Given the description of an element on the screen output the (x, y) to click on. 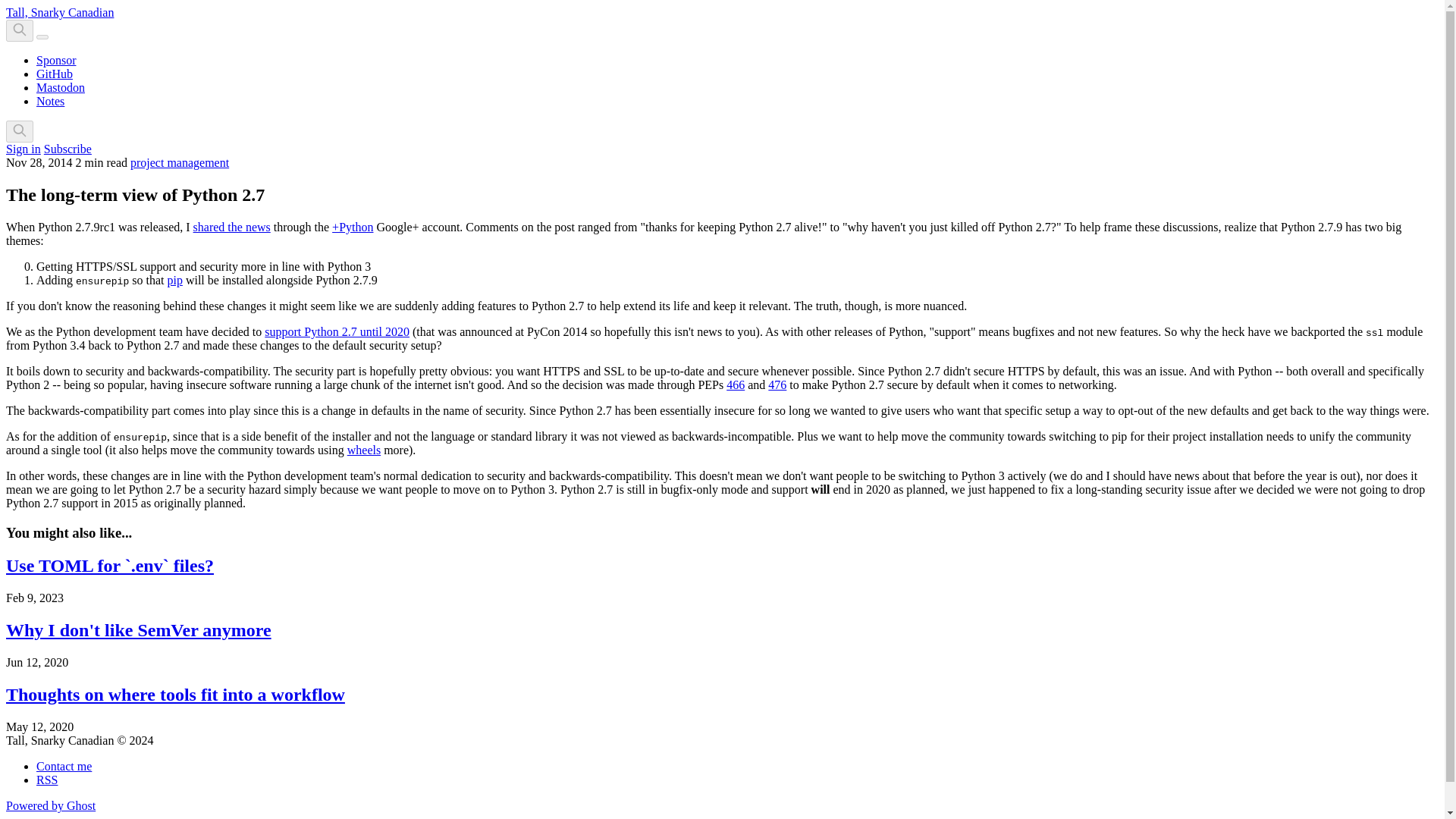
shared the news (231, 226)
476 (777, 384)
pip (174, 279)
Notes (50, 101)
Thoughts on where tools fit into a workflow (175, 694)
Sponsor (55, 60)
project management (179, 162)
Subscribe (67, 148)
Powered by Ghost (50, 805)
Mastodon (60, 87)
Sign in (22, 148)
project management (179, 162)
466 (735, 384)
Contact me (63, 766)
support Python 2.7 until 2020 (336, 331)
